Given the description of an element on the screen output the (x, y) to click on. 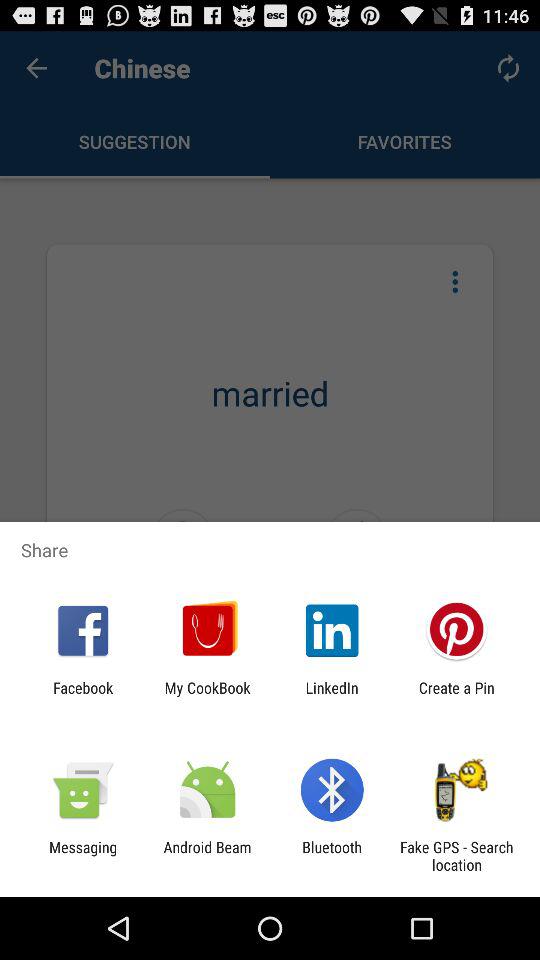
turn on the icon to the left of the my cookbook app (83, 696)
